Given the description of an element on the screen output the (x, y) to click on. 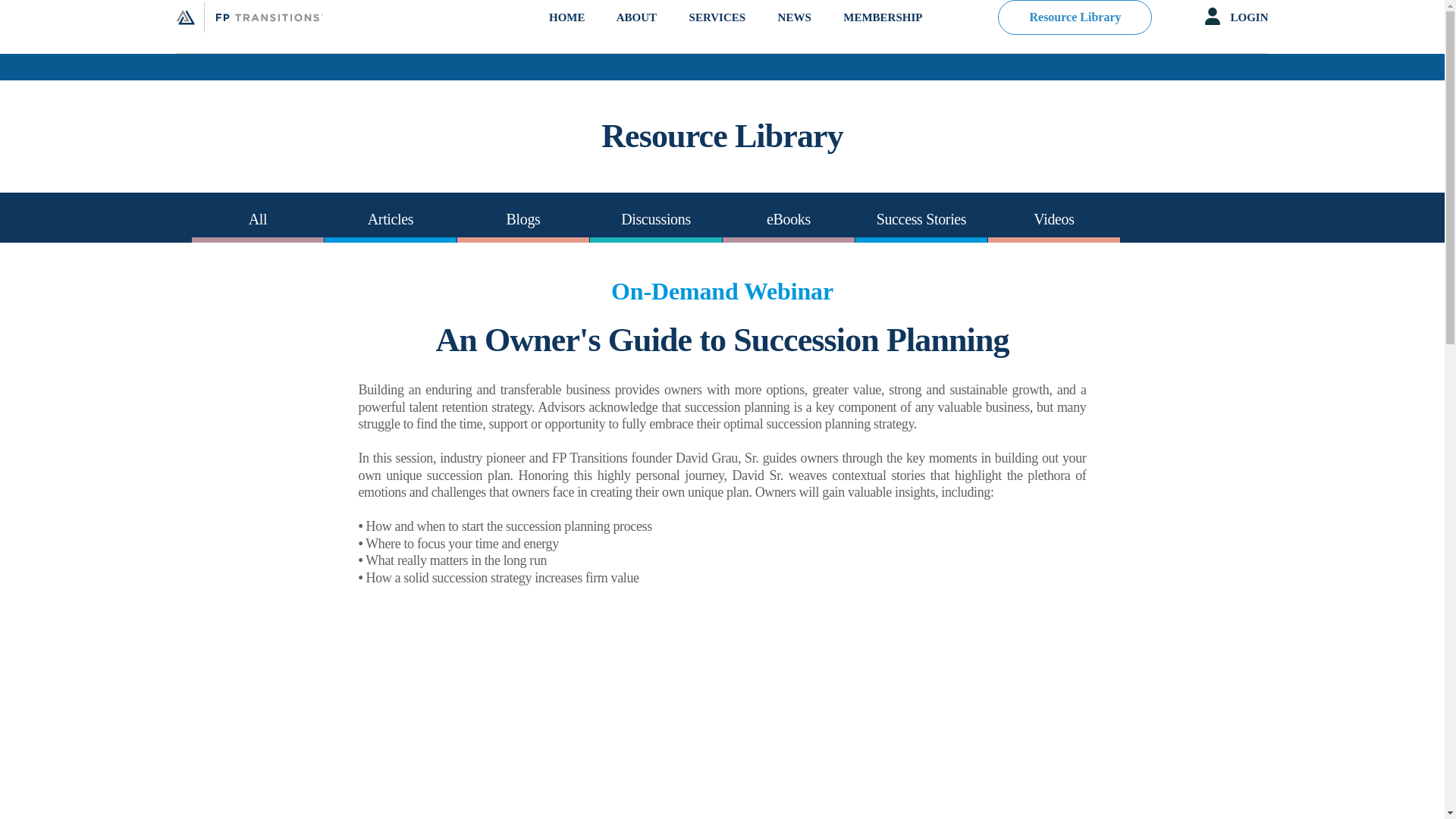
NEWS (793, 31)
SERVICES (716, 31)
ABOUT (635, 31)
MEMBERSHIP (882, 31)
HOME (566, 31)
